Given the description of an element on the screen output the (x, y) to click on. 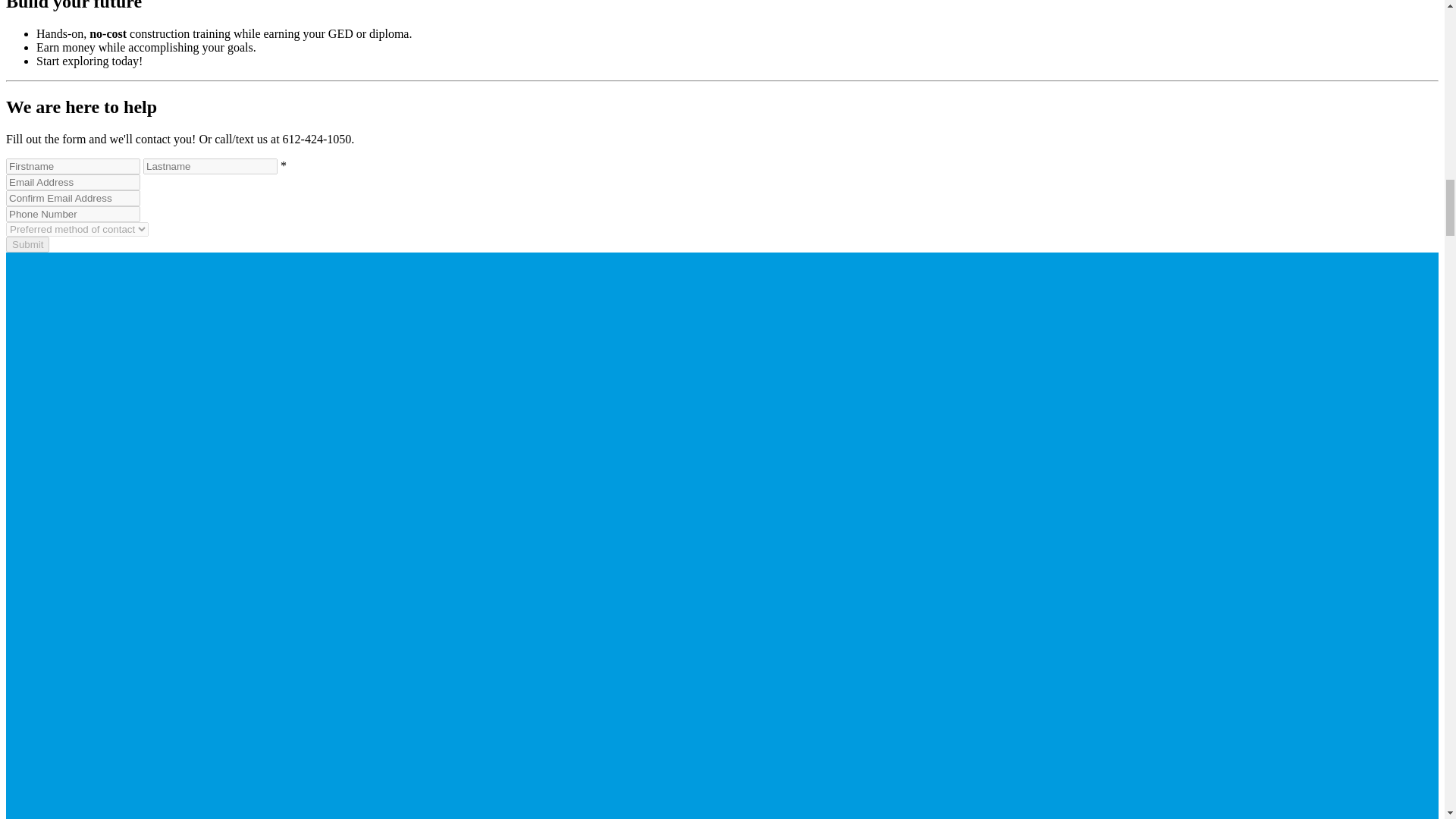
Submit (27, 244)
Submit (27, 244)
